Given the description of an element on the screen output the (x, y) to click on. 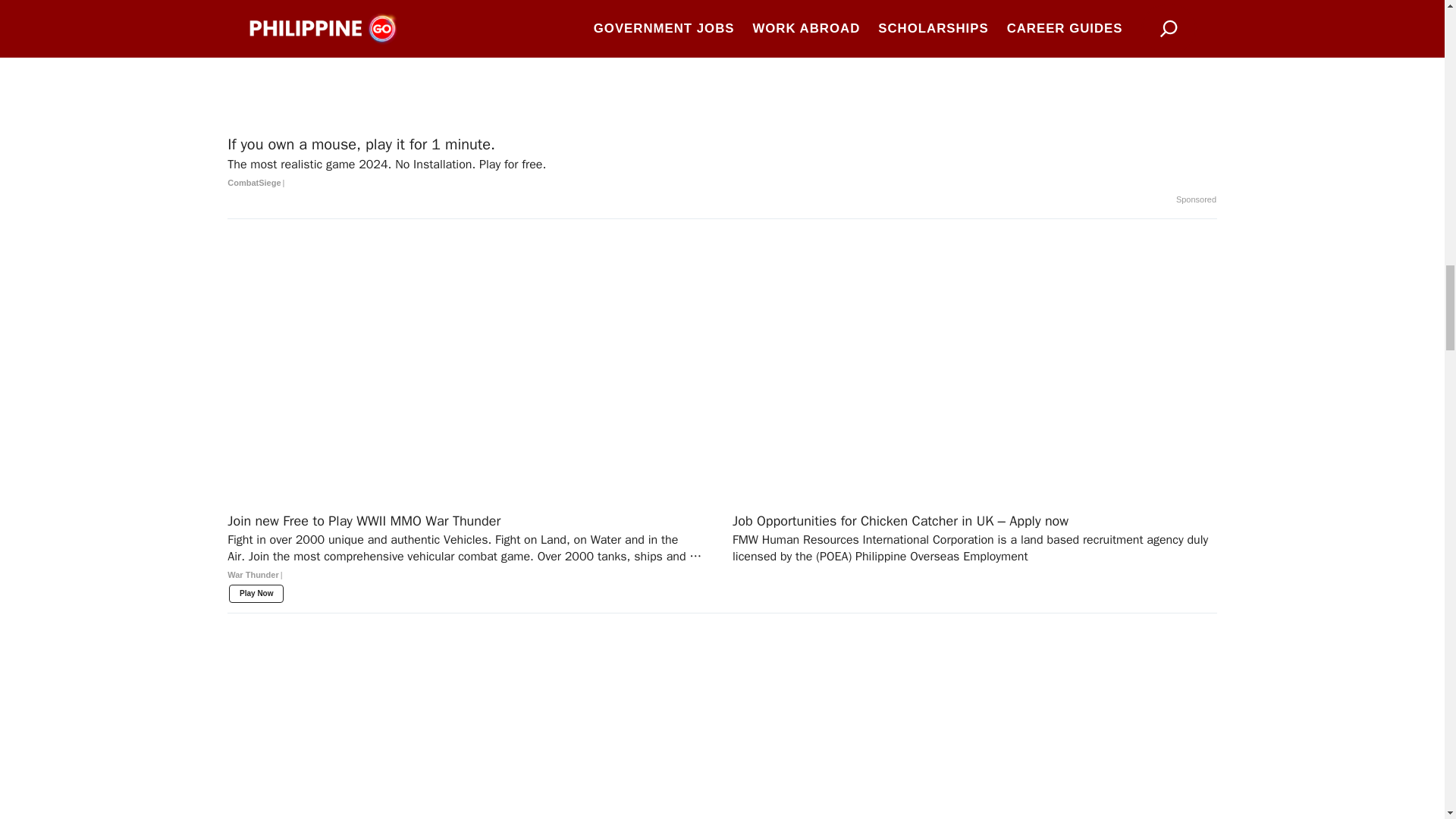
Play Now (255, 593)
Join new Free to Play WWII MMO War Thunder (469, 552)
If you own a mouse, play it for 1 minute. (722, 163)
Sponsored (1195, 199)
